Given the description of an element on the screen output the (x, y) to click on. 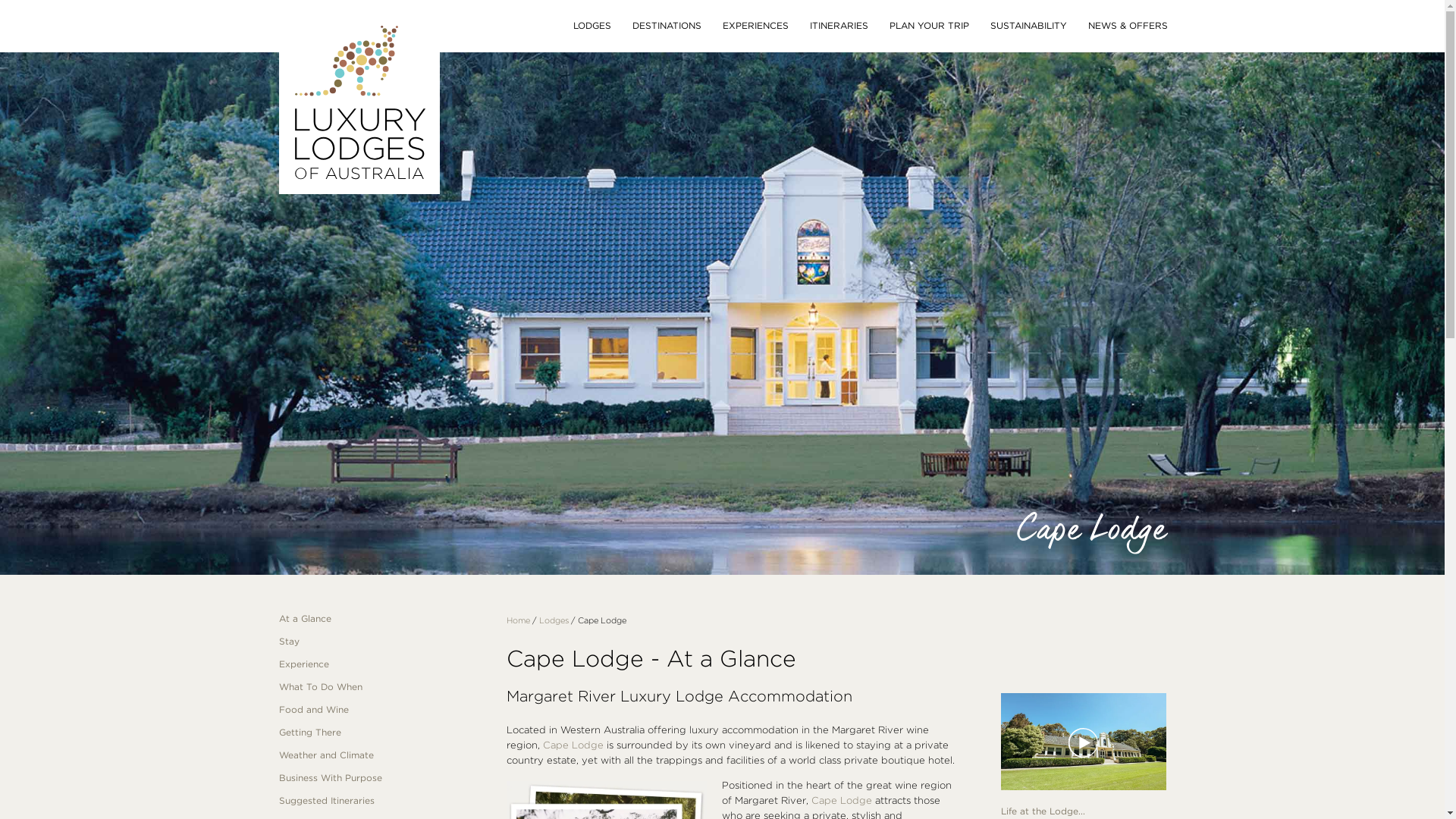
Home Element type: text (518, 620)
Getting There Element type: text (381, 732)
Luxury Lodges of Australia Element type: hover (359, 215)
What To Do When Element type: text (381, 686)
EXPERIENCES Element type: text (754, 26)
Experience Element type: text (381, 663)
Stay Element type: text (381, 641)
ITINERARIES Element type: text (838, 26)
LODGES Element type: text (591, 26)
popup-video Element type: hover (1083, 743)
DESTINATIONS Element type: text (666, 26)
Suggested Itineraries Element type: text (381, 800)
SUSTAINABILITY Element type: text (1028, 26)
Weather and Climate Element type: text (381, 754)
NEWS & OFFERS Element type: text (1126, 26)
PLAN YOUR TRIP Element type: text (928, 26)
Business With Purpose Element type: text (381, 777)
At a Glance Element type: text (381, 618)
Lodges Element type: text (552, 620)
Cape Lodge Element type: text (841, 800)
Life at the Lodge... Element type: text (1043, 810)
Cape Lodge Element type: text (572, 744)
Food and Wine Element type: text (381, 709)
